Given the description of an element on the screen output the (x, y) to click on. 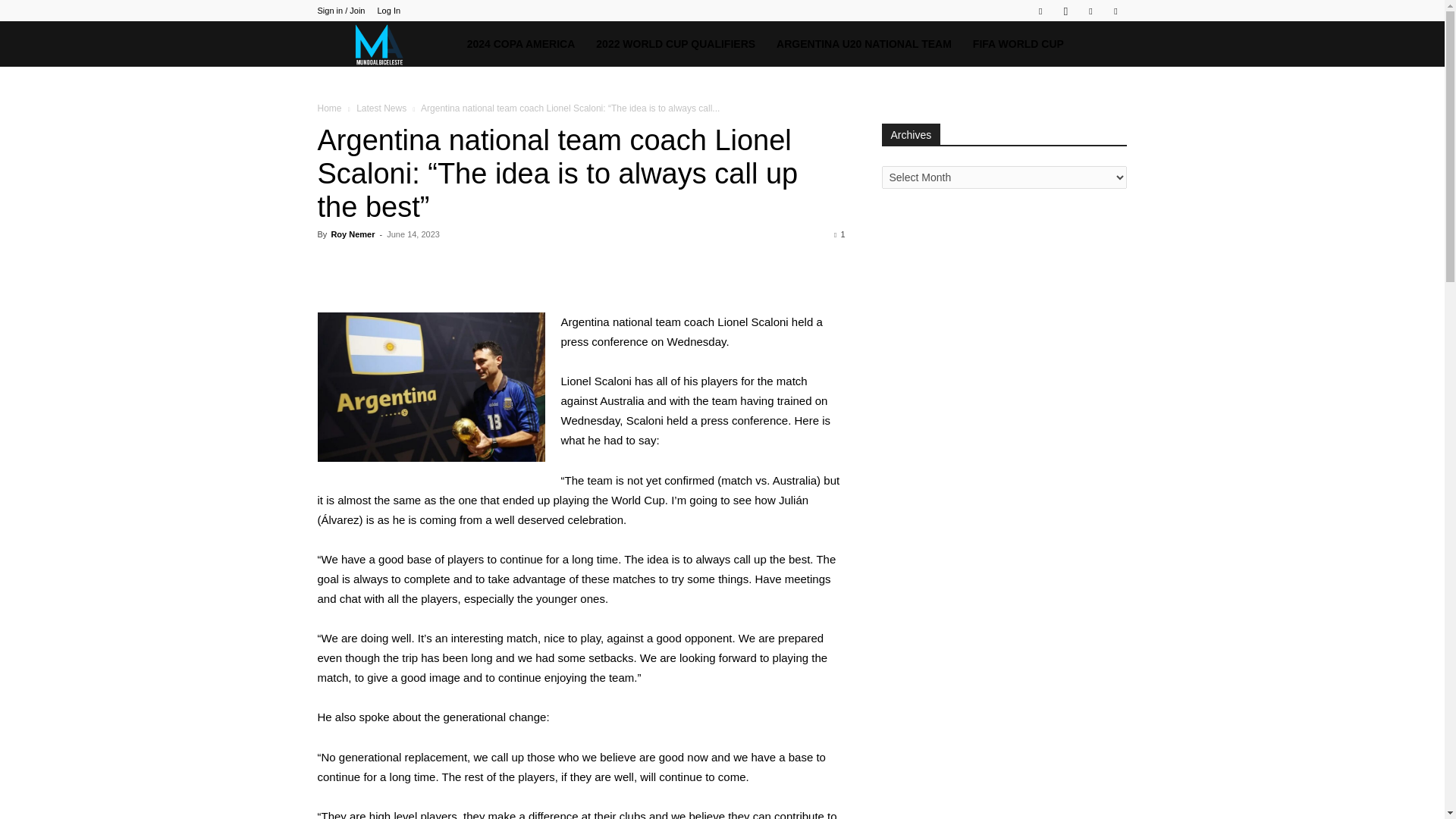
Instagram (1065, 10)
1 (839, 234)
FIFA WORLD CUP (1018, 43)
Mundo Albiceleste (386, 44)
Roy Nemer (352, 234)
Youtube (1114, 10)
Latest News (381, 108)
Log In (388, 10)
View all posts in Latest News (381, 108)
2024 COPA AMERICA (521, 43)
Home (328, 108)
2022 WORLD CUP QUALIFIERS (675, 43)
Twitter (1090, 10)
ARGENTINA U20 NATIONAL TEAM (863, 43)
Facebook (1040, 10)
